Given the description of an element on the screen output the (x, y) to click on. 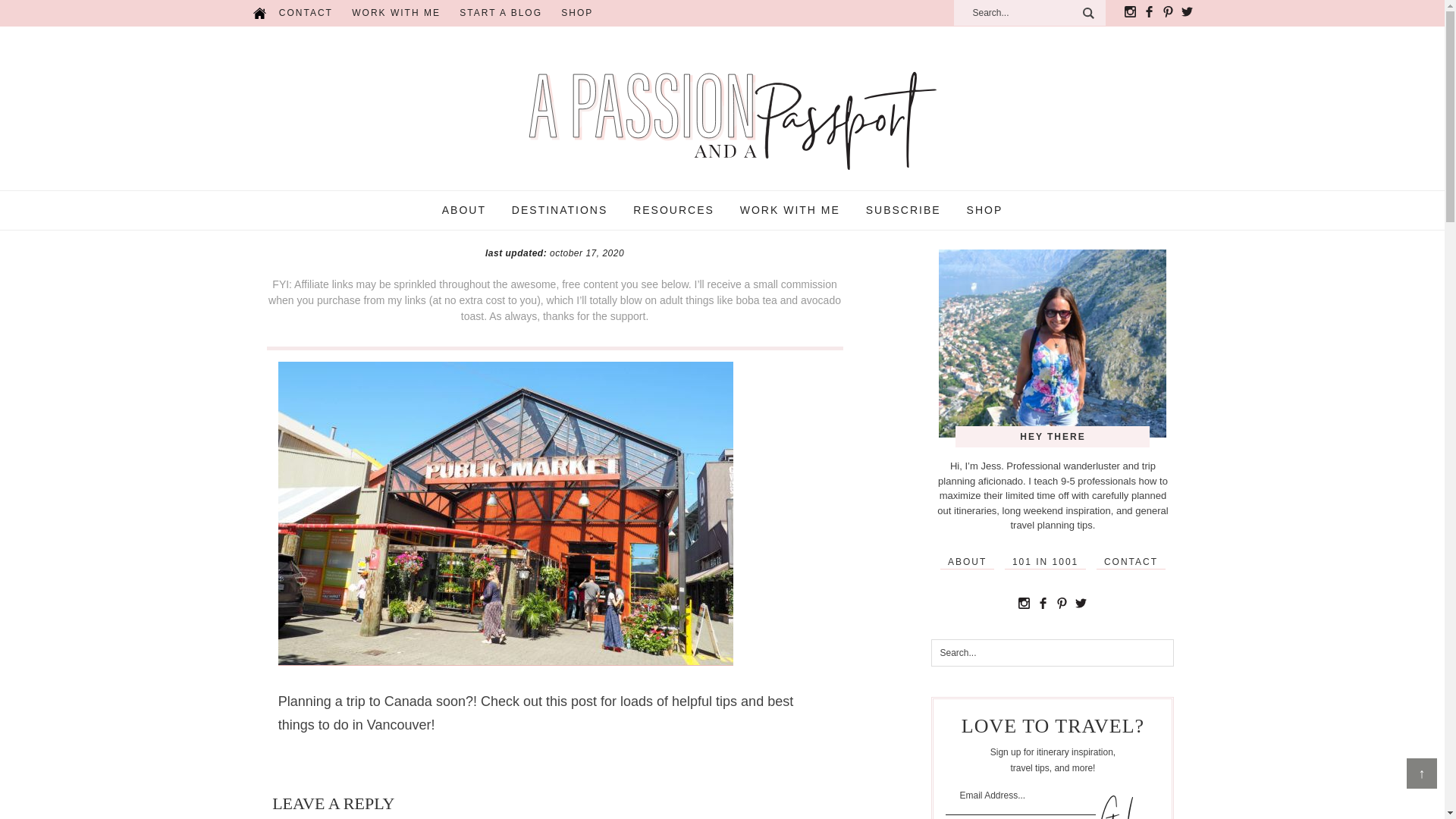
CONTACT (305, 13)
START A BLOG (500, 13)
WORK WITH ME (395, 13)
Subscribe (1116, 807)
SHOP (576, 13)
